Given the description of an element on the screen output the (x, y) to click on. 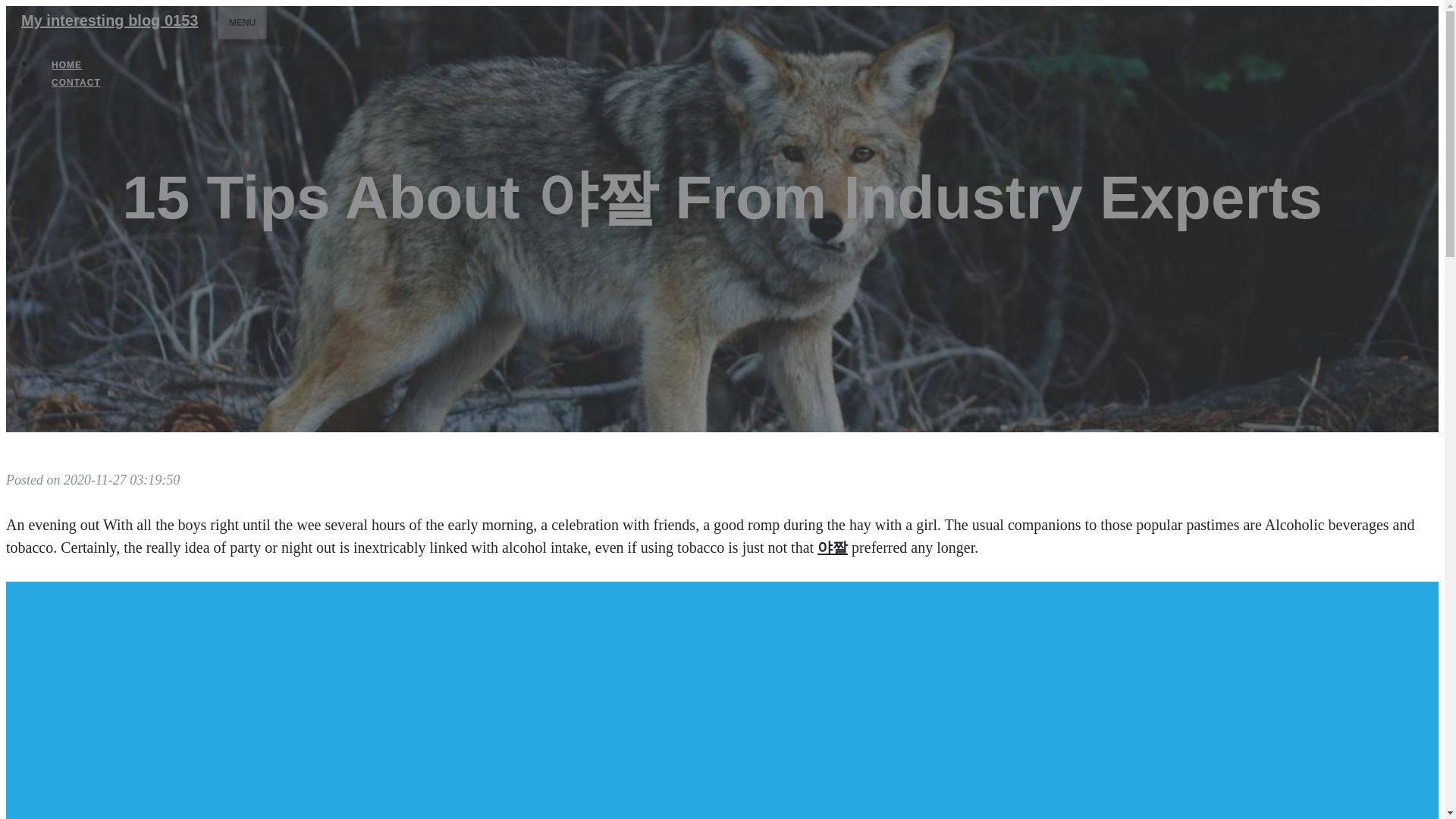
CONTACT (76, 82)
MENU (241, 22)
My interesting blog 0153 (108, 20)
HOME (66, 64)
